Given the description of an element on the screen output the (x, y) to click on. 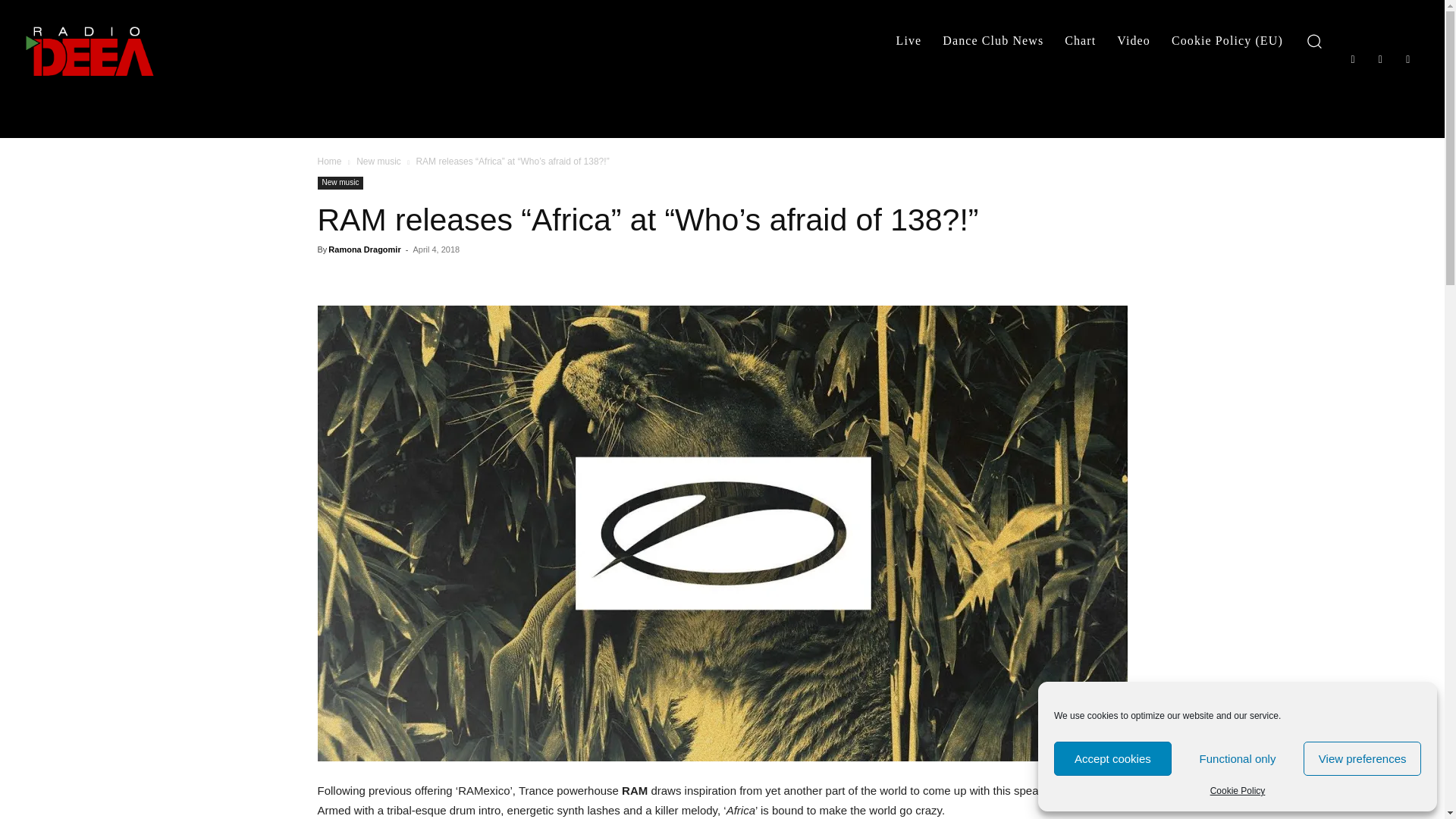
Video (1133, 40)
Cookie Policy (1237, 790)
New music (378, 161)
Radio DEEA - feel good! feel dance! (90, 50)
Radio DEEA Chart: Top Twenty and Five Underground (1080, 40)
View preferences (1362, 758)
New music (339, 182)
Home (328, 161)
Live din studioul Radio DEEA (1133, 40)
Chart (1080, 40)
Dance Club News (992, 40)
Functional only (1238, 758)
